Given the description of an element on the screen output the (x, y) to click on. 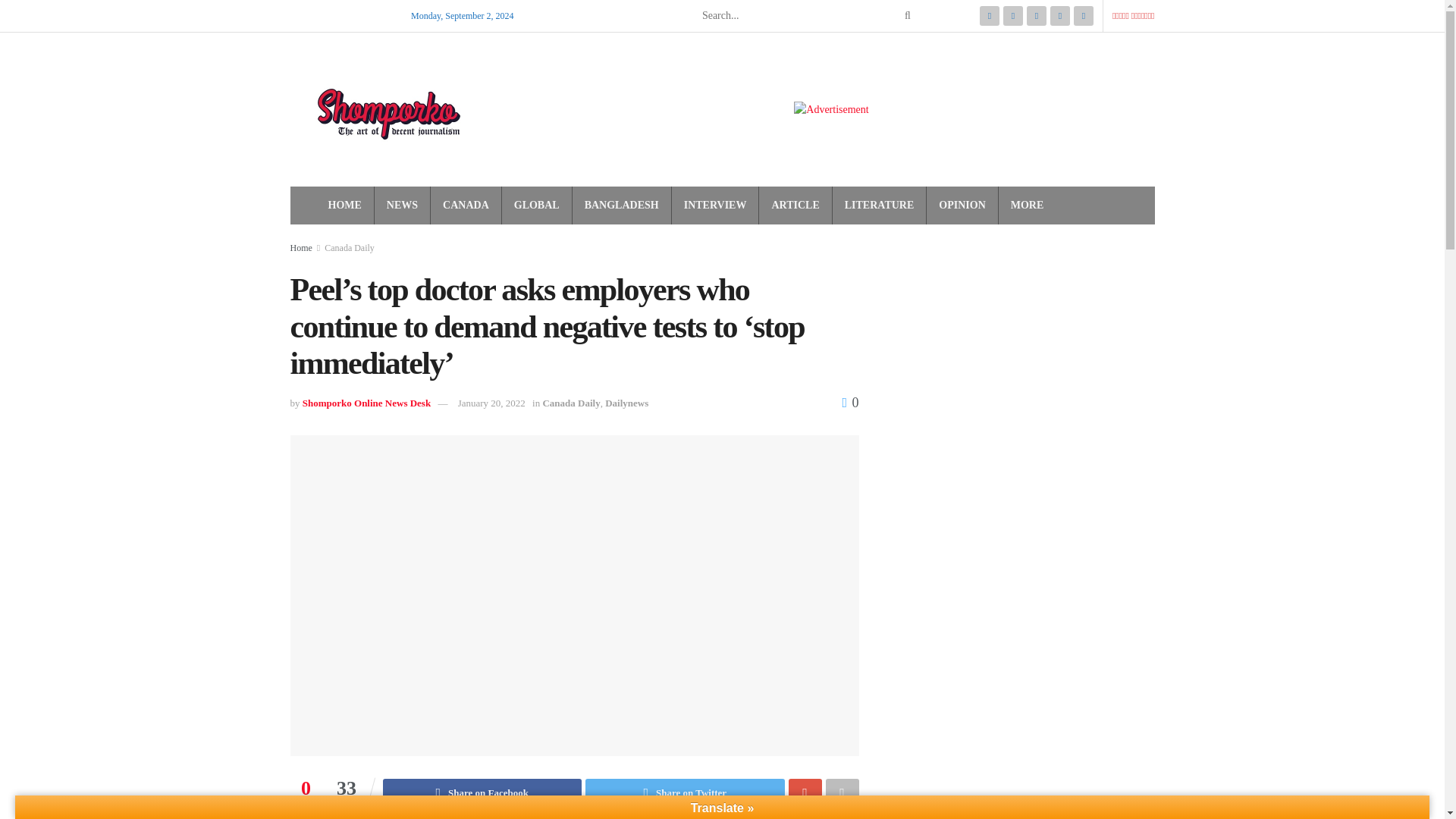
INTERVIEW (715, 205)
BANGLADESH (622, 205)
MORE (1026, 205)
GLOBAL (536, 205)
HOME (344, 205)
OPINION (962, 205)
ARTICLE (794, 205)
CANADA (465, 205)
LITERATURE (879, 205)
NEWS (402, 205)
